Given the description of an element on the screen output the (x, y) to click on. 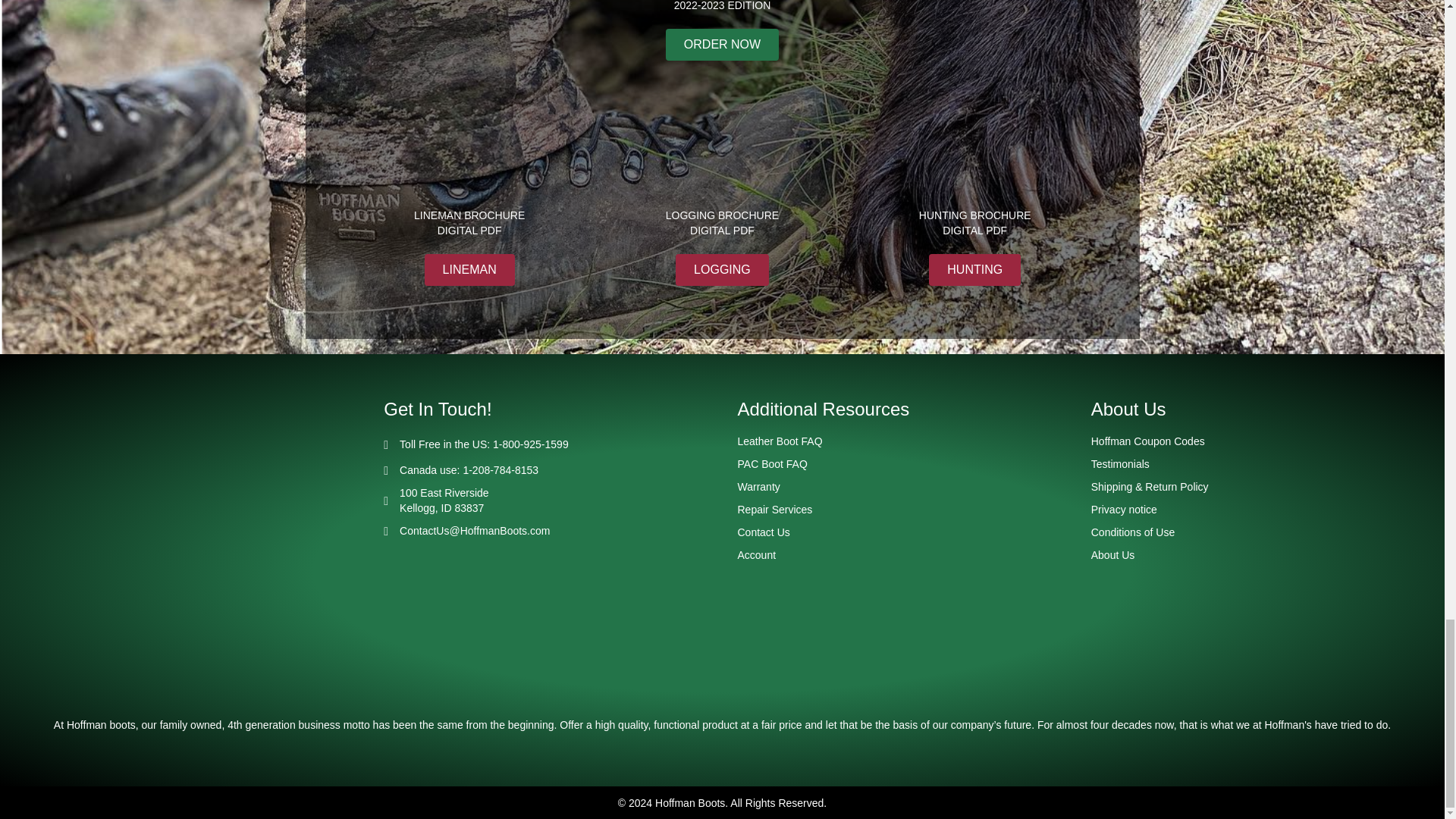
Click Here (974, 269)
Click Here (721, 269)
Click Here (470, 269)
Click Here (721, 44)
